Given the description of an element on the screen output the (x, y) to click on. 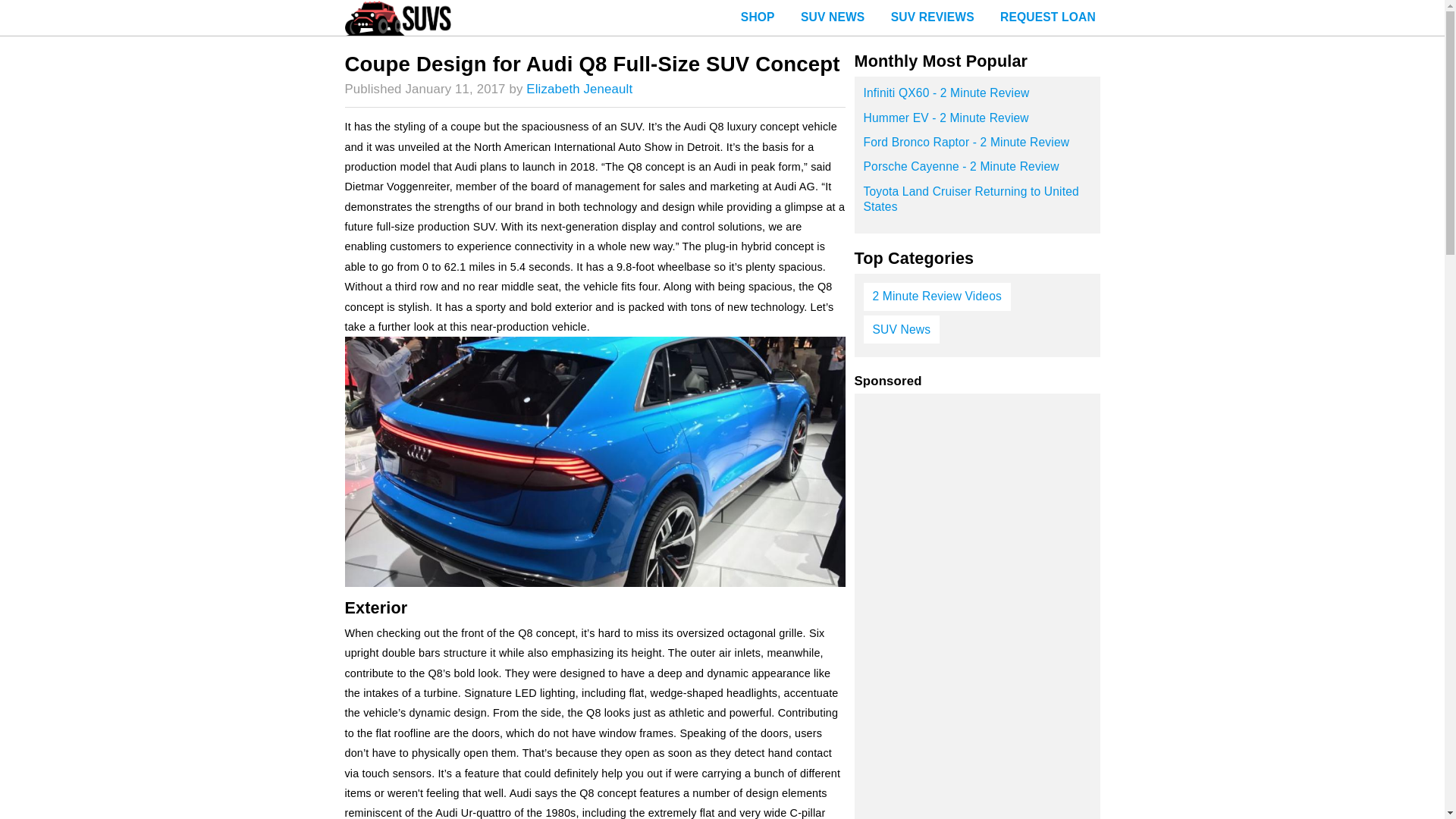
Toyota Land Cruiser Returning to United States (976, 204)
Hummer EV - 2 Minute Review (976, 122)
Porsche Cayenne - 2 Minute Review (976, 170)
2 Minute Review Videos (936, 296)
Ford Bronco Raptor - 2 Minute Review (976, 146)
SUV NEWS (832, 18)
SUV REVIEWS (932, 18)
Elizabeth Jeneault (578, 88)
SHOP (757, 18)
Infiniti QX60 - 2 Minute Review (976, 97)
SUV News (901, 329)
REQUEST LOAN (1047, 18)
